Given the description of an element on the screen output the (x, y) to click on. 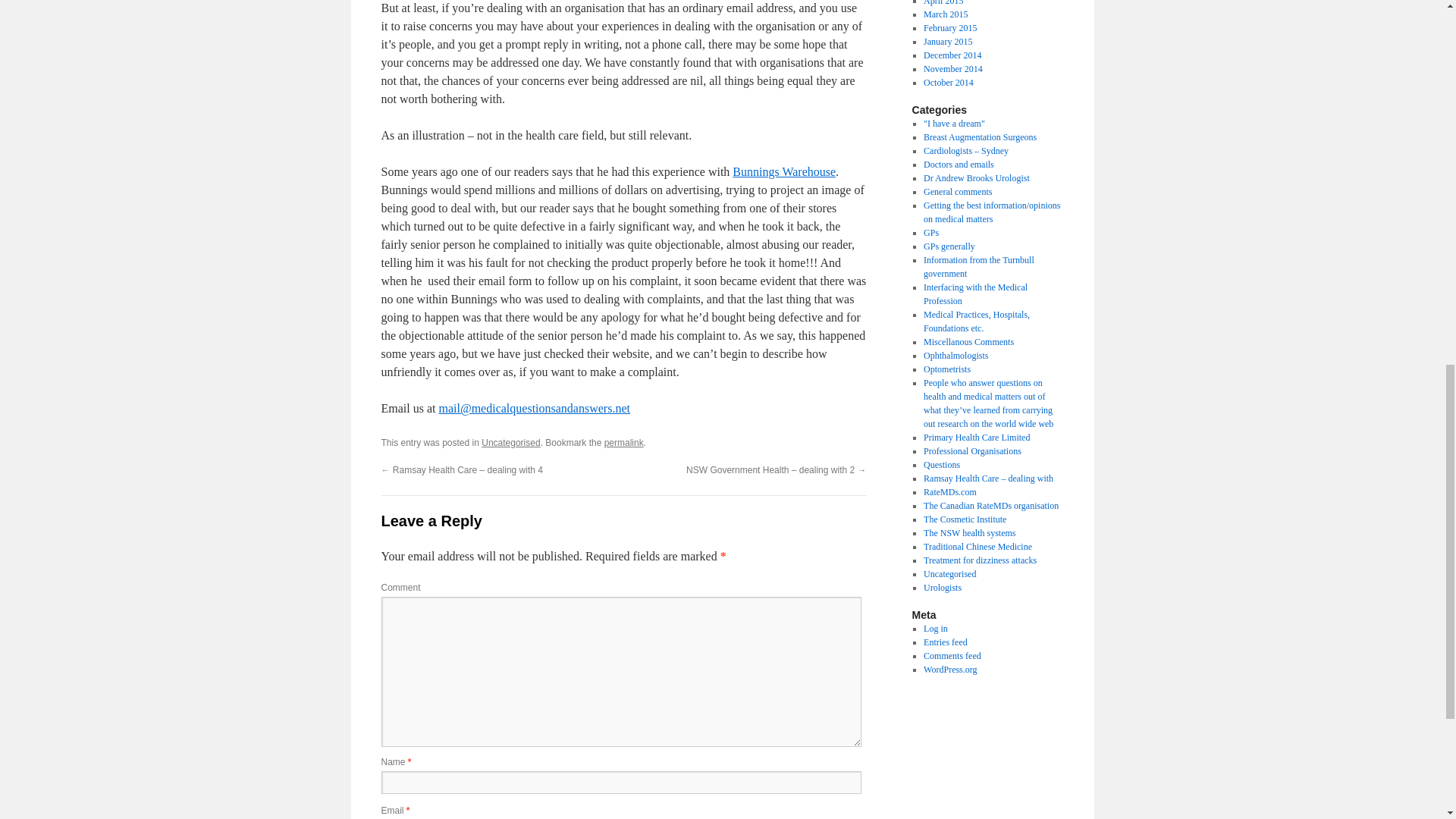
permalink (623, 442)
Bunnings Warehouse (783, 171)
Uncategorised (510, 442)
